Given the description of an element on the screen output the (x, y) to click on. 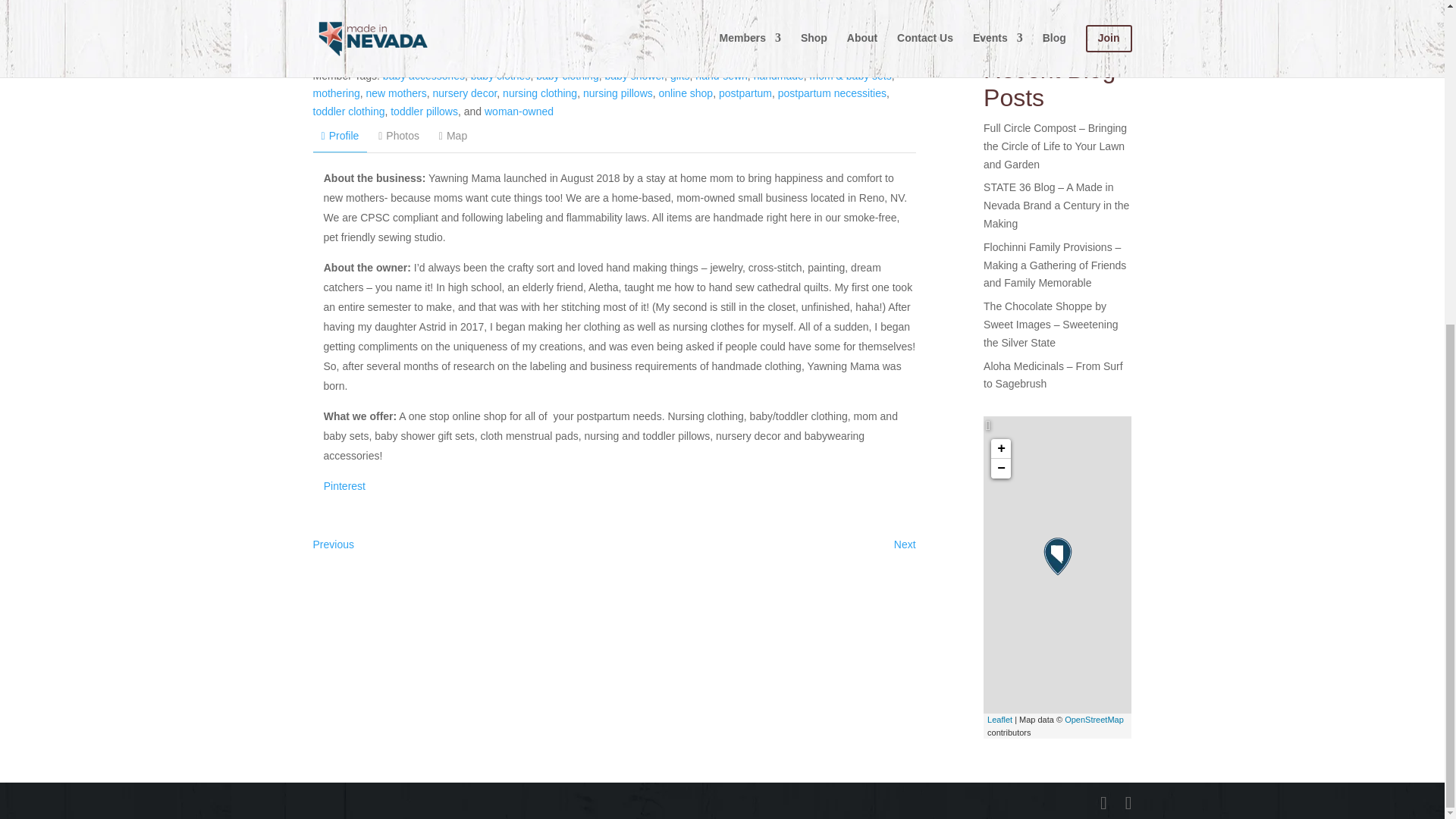
baby accessories (423, 75)
baby shower (633, 75)
Zoom out (1000, 468)
postpartum (745, 92)
nursing pillows (617, 92)
nursery decor (464, 92)
baby clothing (566, 75)
baby clothes (500, 75)
hand-sewn (721, 75)
toddler clothing (348, 111)
new mothers (396, 92)
postpartum necessities (831, 92)
nursing clothing (539, 92)
A JS library for interactive maps (999, 718)
Retail (531, 57)
